Given the description of an element on the screen output the (x, y) to click on. 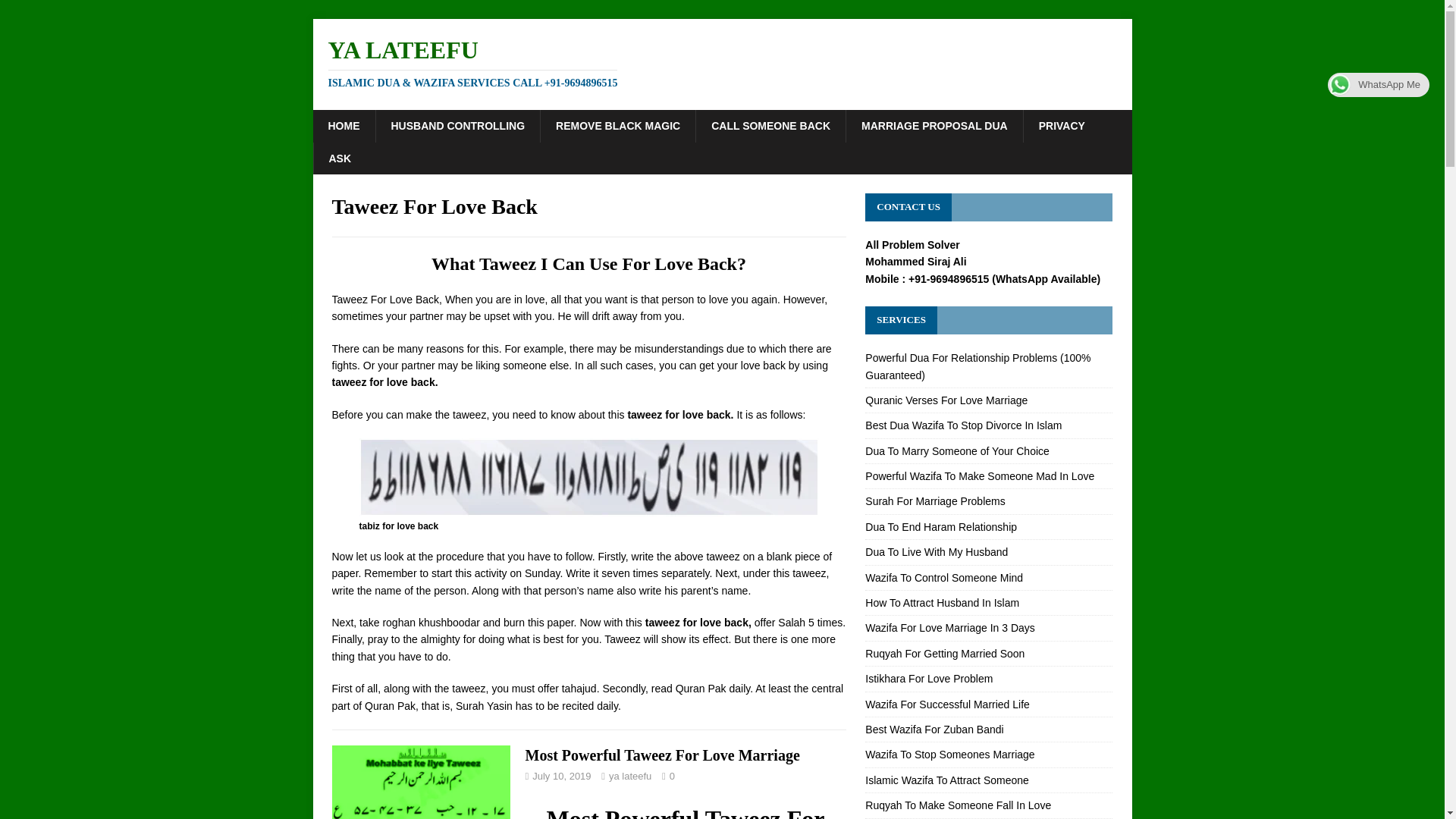
Ya Lateefu (721, 62)
Dua To Marry Someone of Your Choice (956, 451)
Best Dua Wazifa To Stop Divorce In Islam (962, 425)
ASK (339, 158)
ya lateefu (629, 776)
Wazifa For Successful Married Life (946, 704)
Wazifa For Love Marriage In 3 Days (949, 627)
Dua To End Haram Relationship (940, 526)
HUSBAND CONTROLLING (457, 125)
MARRIAGE PROPOSAL DUA (934, 125)
